Given the description of an element on the screen output the (x, y) to click on. 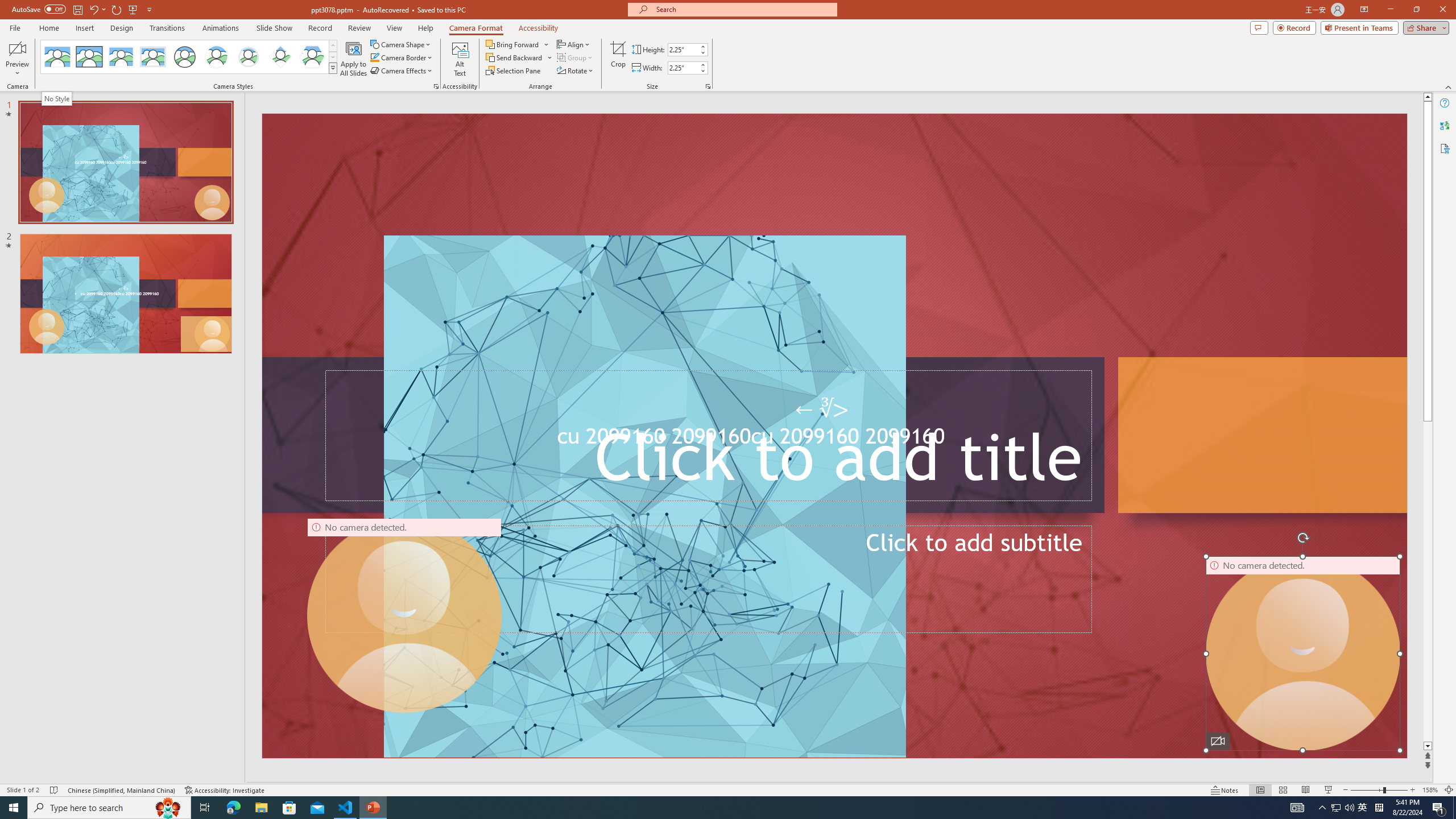
No Style (57, 56)
Group (575, 56)
Bring Forward (513, 44)
Soft Edge Circle (248, 56)
Camera Format (475, 28)
Subtitle TextBox (708, 579)
Camera 9, No camera detected. (404, 615)
